Given the description of an element on the screen output the (x, y) to click on. 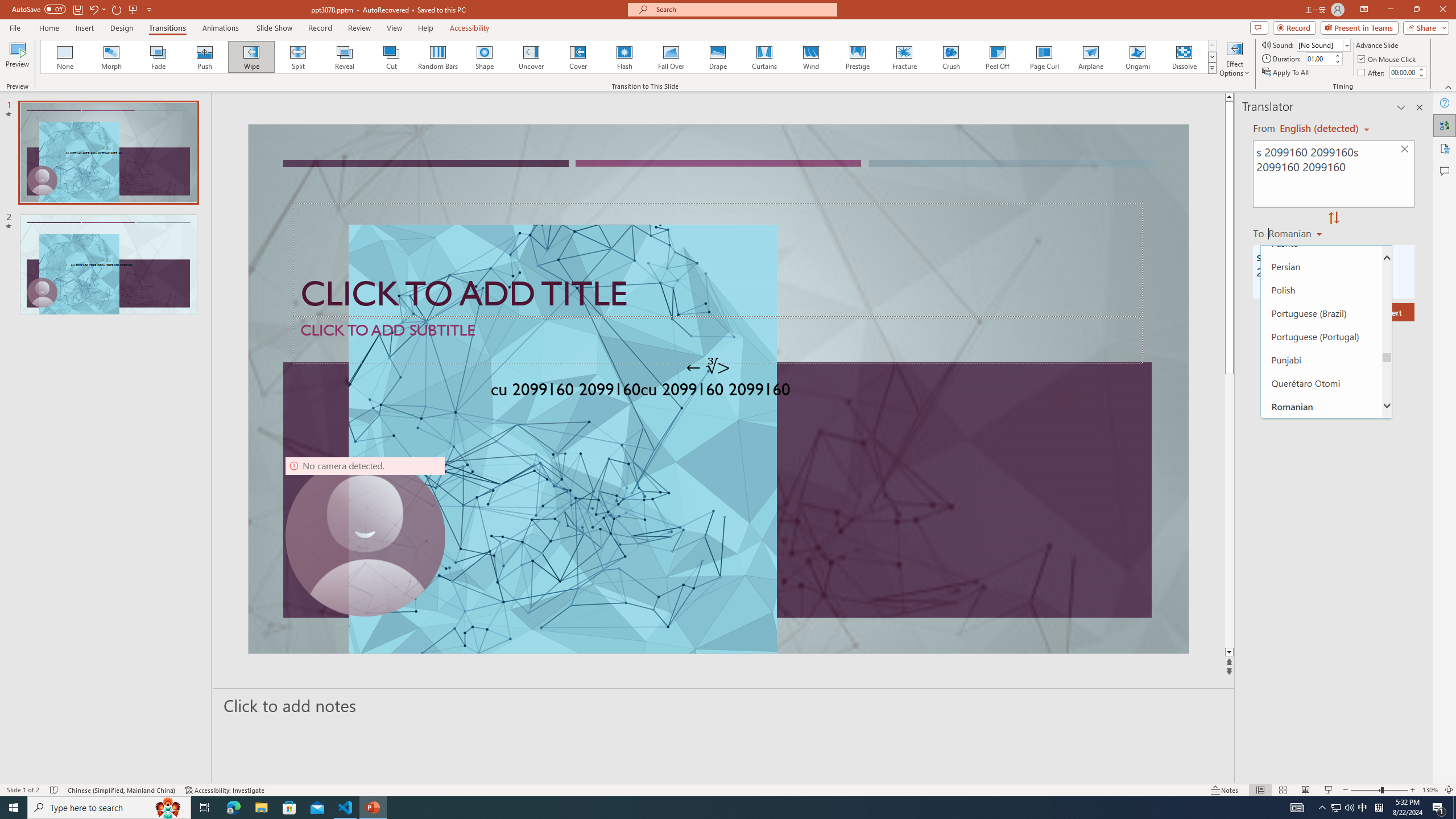
Polish (1320, 289)
Fracture (903, 56)
Pashto (1320, 242)
Norwegian (1320, 173)
Apply To All (1286, 72)
